Given the description of an element on the screen output the (x, y) to click on. 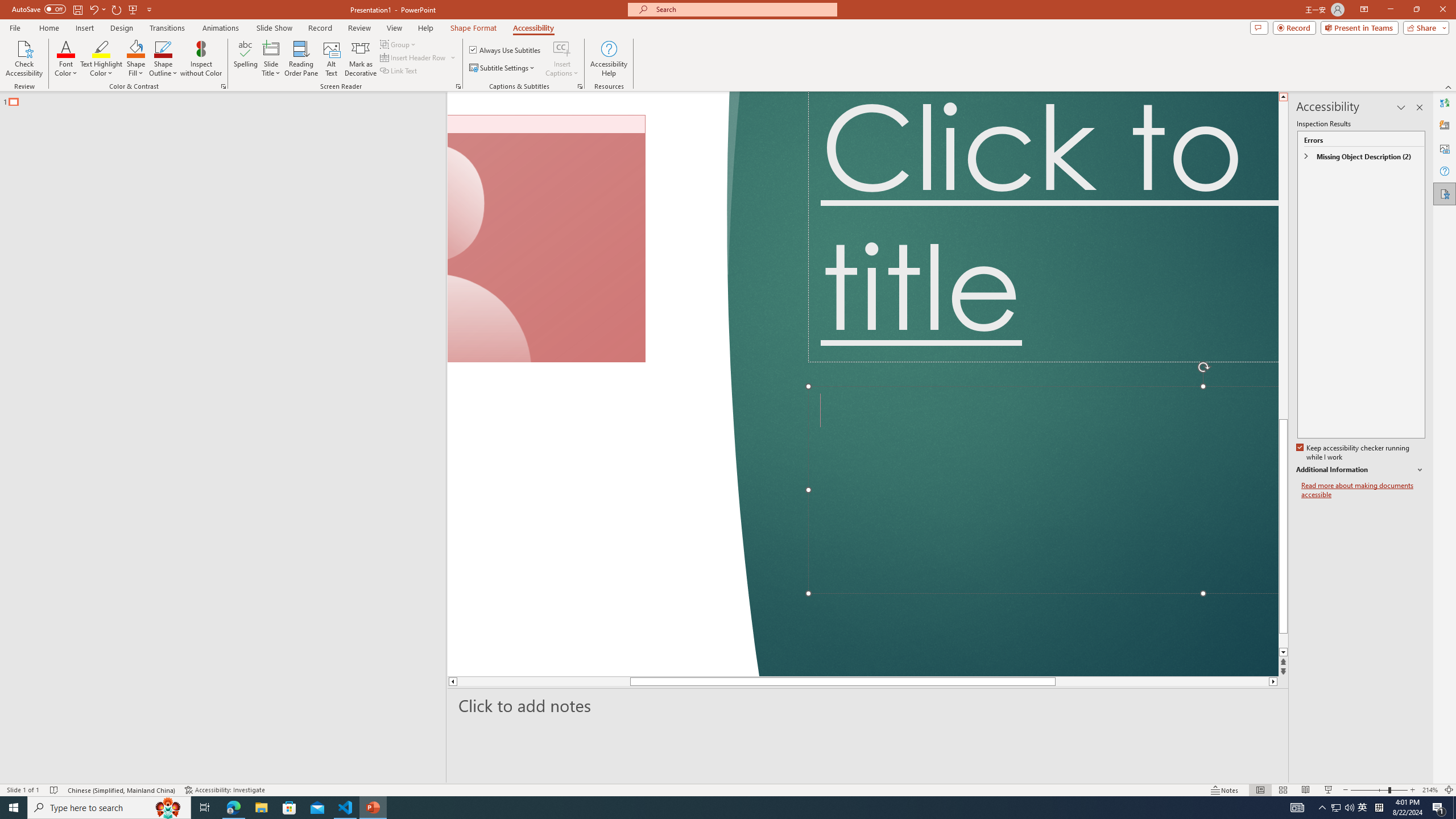
Text Highlight Color Yellow (100, 48)
Inspect without Color (201, 58)
Shape Outline (163, 58)
Accessibility Help (608, 58)
Page up (1283, 266)
Insert Header Row (413, 56)
Insert Captions (561, 48)
